Given the description of an element on the screen output the (x, y) to click on. 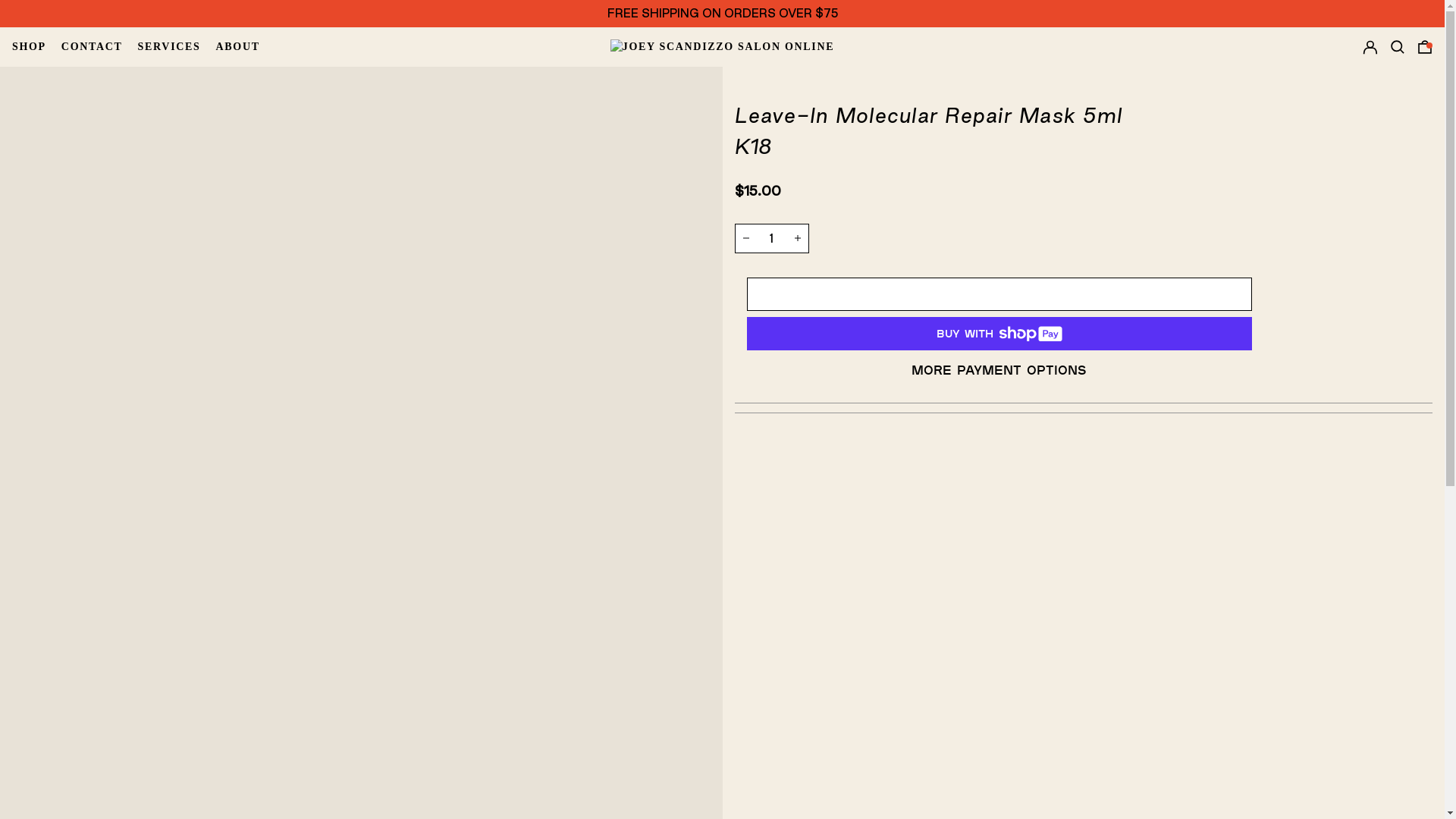
CONTACT Element type: text (93, 46)
SEARCH Element type: text (1397, 46)
More payment options Element type: text (998, 370)
LOG IN Element type: text (1369, 46)
SHOP Element type: text (30, 46)
K18 Element type: text (752, 145)
SERVICES Element type: text (170, 46)
ABOUT Element type: text (238, 46)
